Given the description of an element on the screen output the (x, y) to click on. 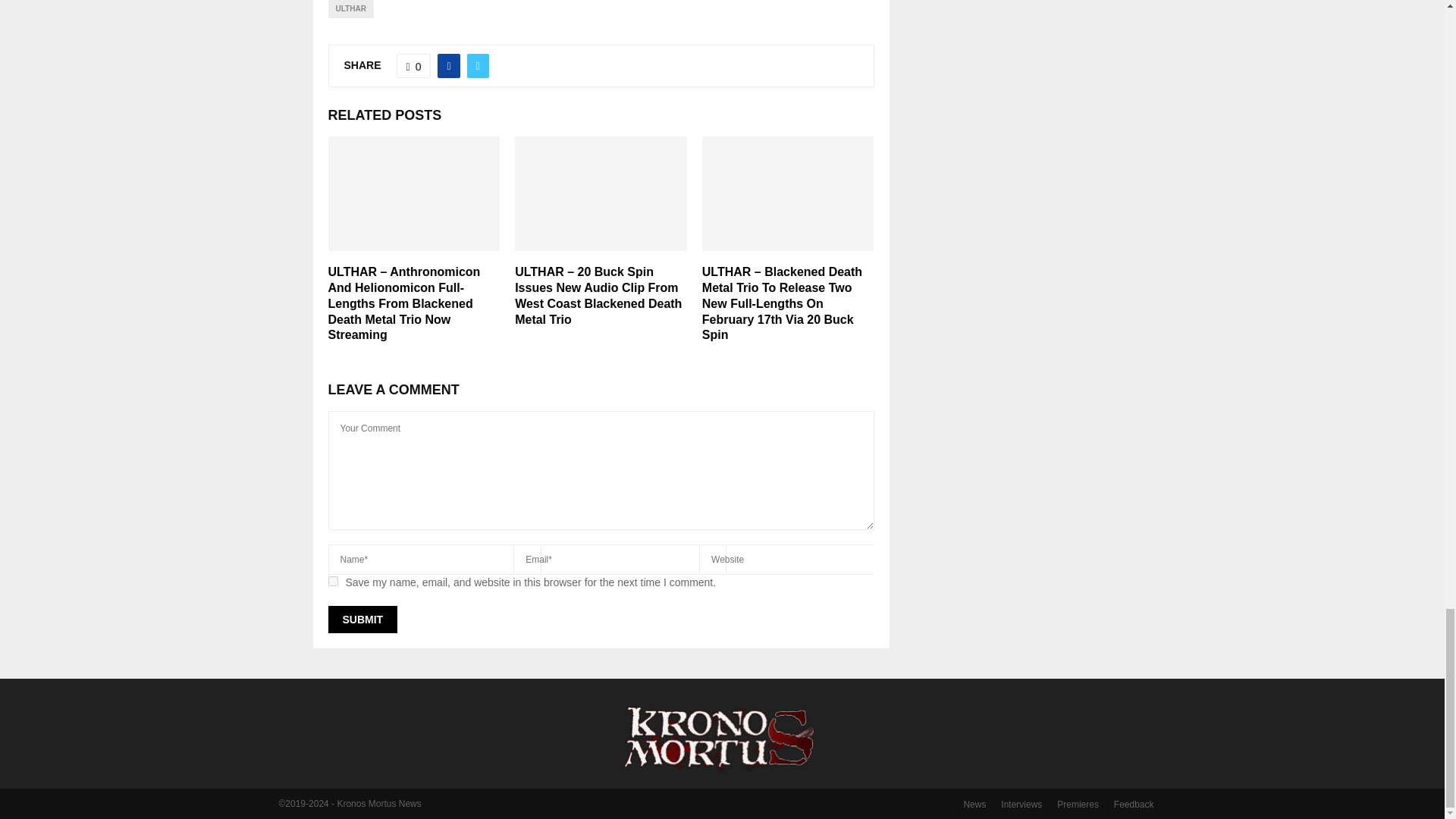
0 (413, 65)
ULTHAR (349, 9)
Like (413, 65)
Submit (362, 619)
yes (332, 581)
